Given the description of an element on the screen output the (x, y) to click on. 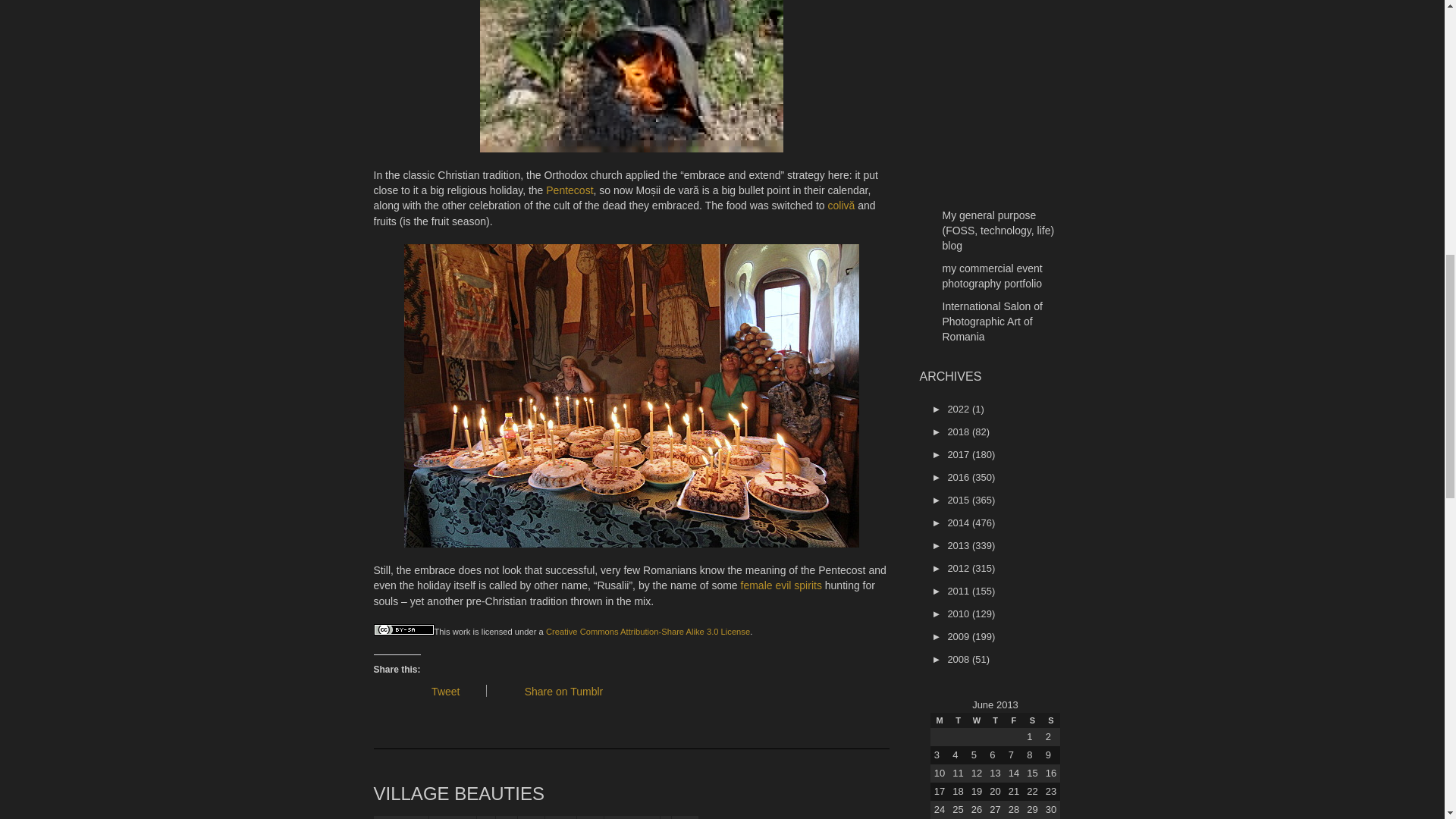
Creative Commons Attribution-Share Alike 3.0 License (647, 631)
girls (506, 817)
VILLAGE BEAUTIES (457, 792)
Village beauties (457, 792)
Tweet (451, 691)
Pentecost (569, 190)
photo (531, 817)
portrait (560, 817)
Share on Tumblr (568, 691)
Category (486, 817)
female evil spirits (781, 585)
2022 (957, 408)
Share on Tumblr (568, 691)
